Given the description of an element on the screen output the (x, y) to click on. 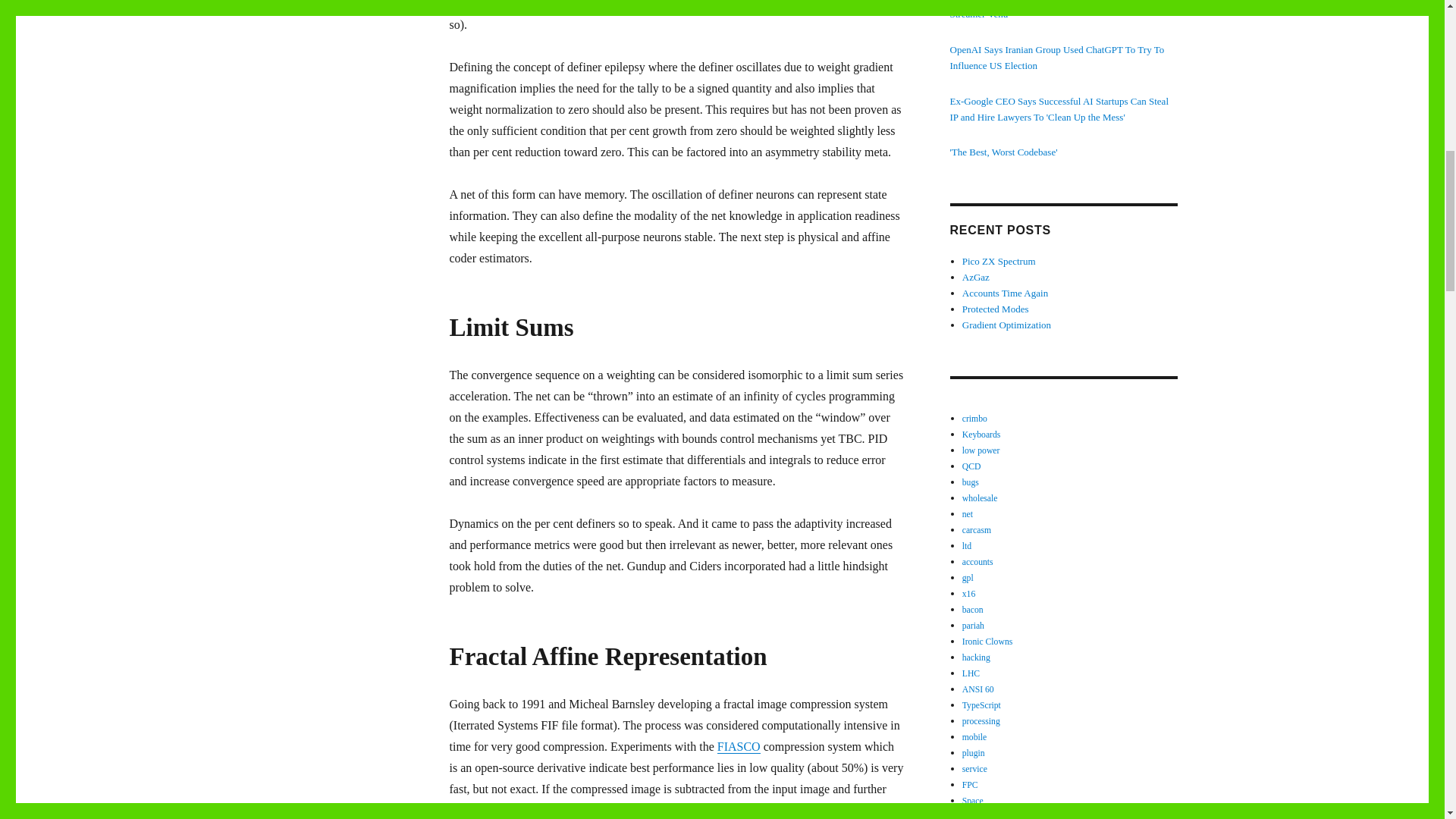
Pico ZX Spectrum (998, 260)
AzGaz (976, 276)
Gradient Optimization (1006, 324)
FIASCO (738, 746)
Protected Modes (995, 308)
Accounts Time Again (1005, 292)
'The Best, Worst Codebase' (1003, 152)
